Given the description of an element on the screen output the (x, y) to click on. 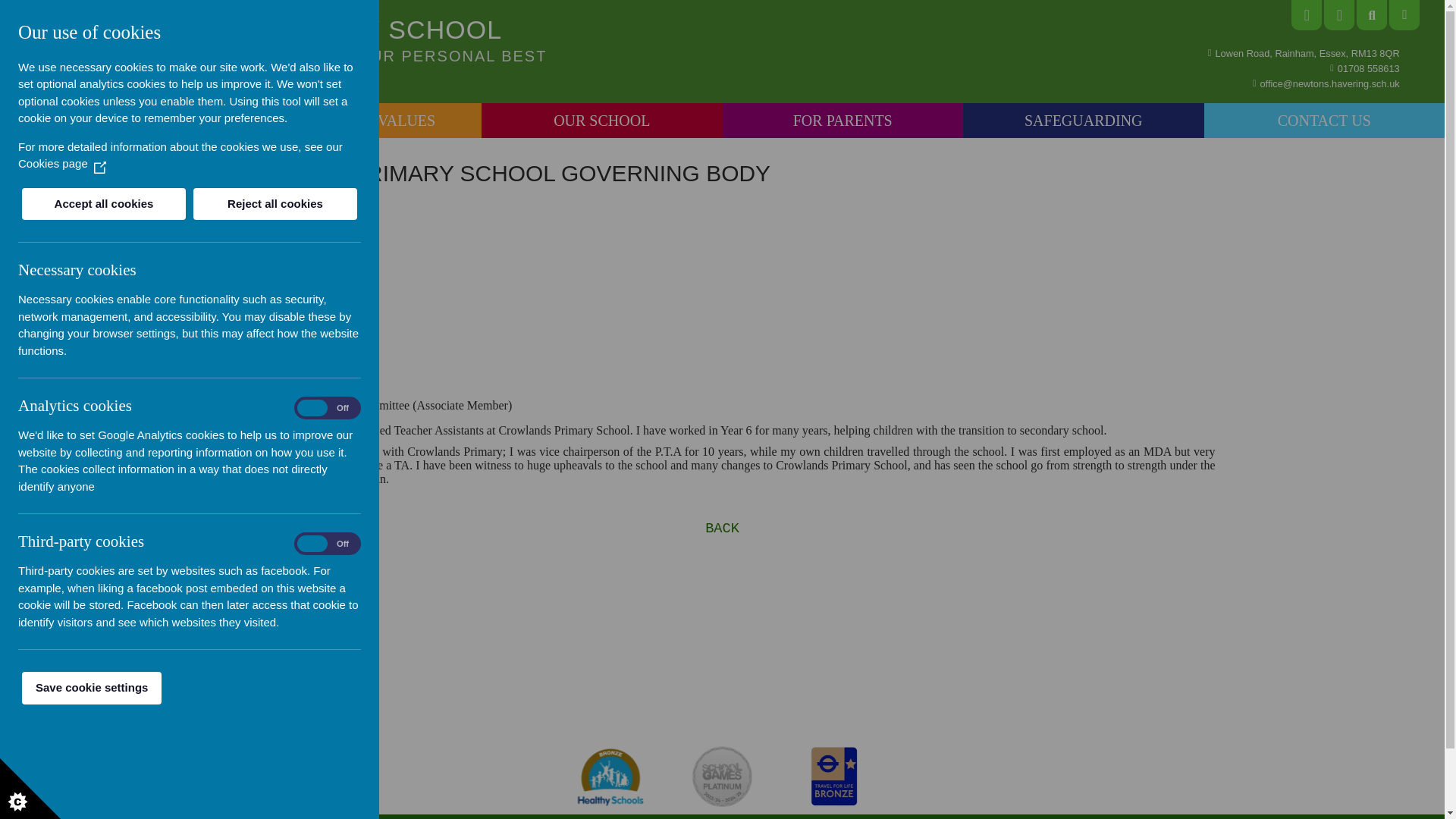
VISION AND VALUES (361, 120)
NEWTONS HOME (120, 120)
Twitter (1338, 15)
Facebook (1306, 15)
on (327, 543)
on (327, 407)
Cookie Control Icon (30, 788)
BACK (721, 528)
